Given the description of an element on the screen output the (x, y) to click on. 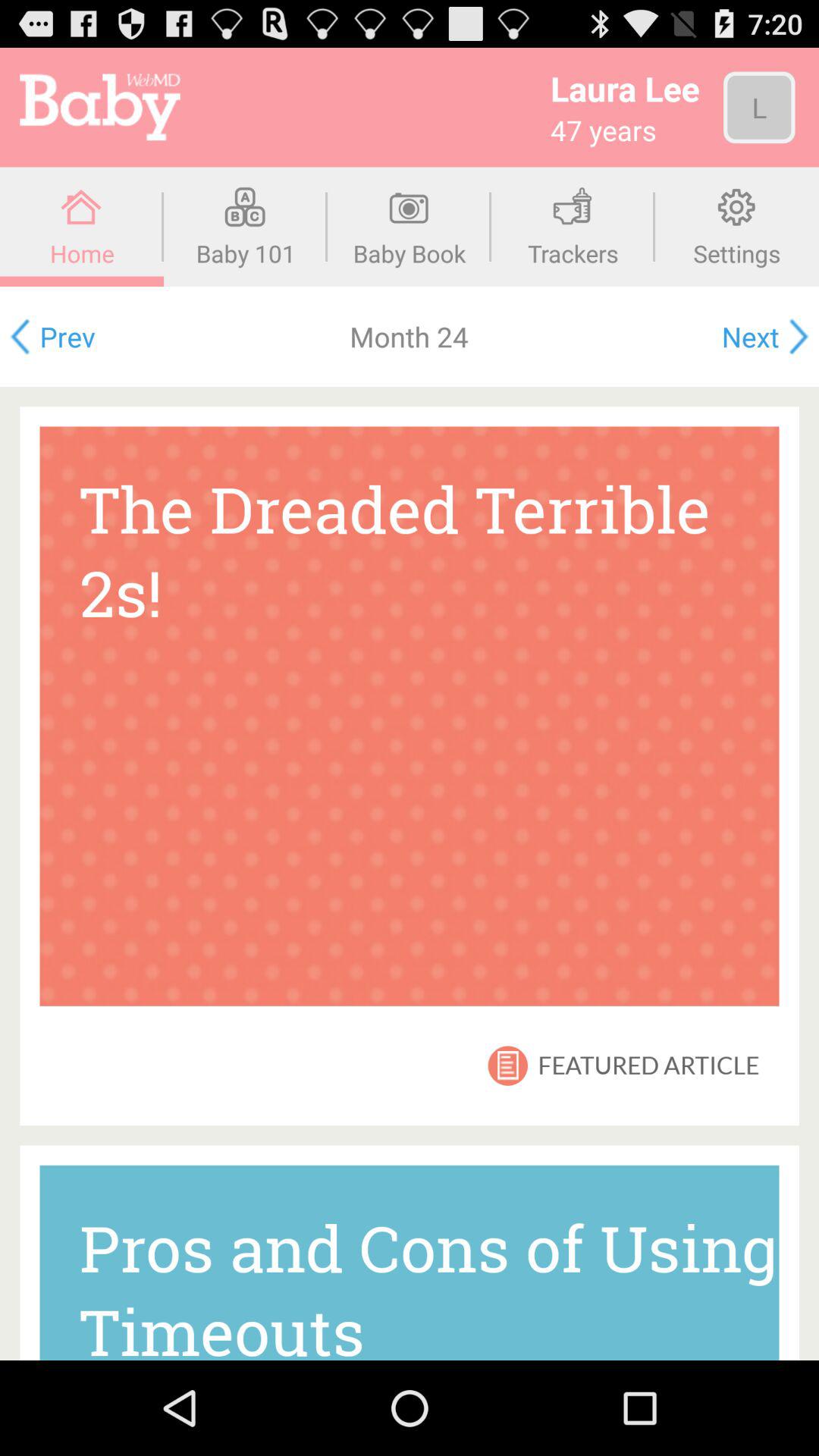
scroll to the the dreaded terrible item (409, 716)
